Given the description of an element on the screen output the (x, y) to click on. 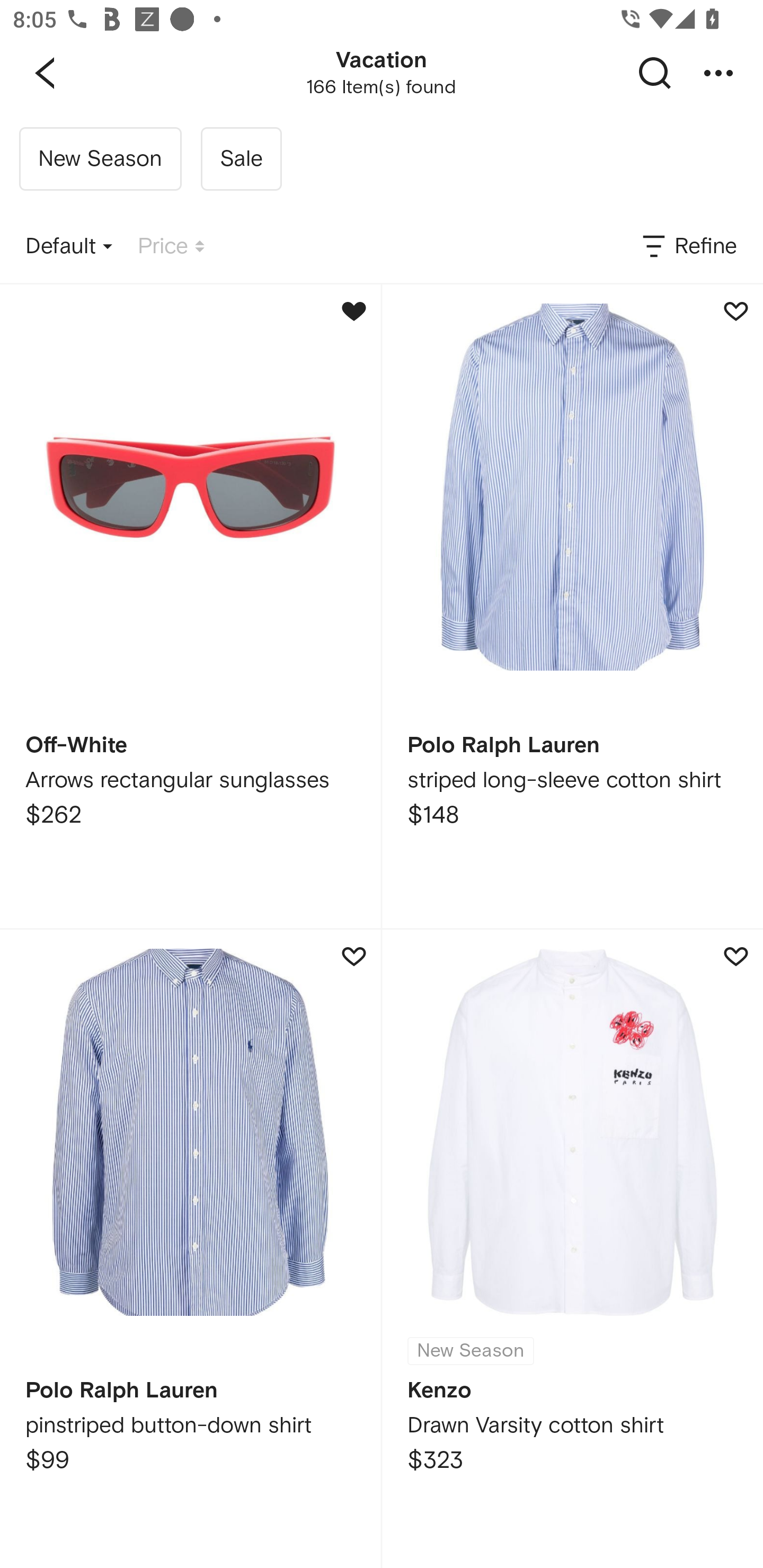
New Season (100, 158)
Sale (240, 158)
Default (68, 246)
Price (171, 246)
Refine (688, 246)
Off-White Arrows rectangular sunglasses $262 (190, 605)
Polo Ralph Lauren pinstriped button-down shirt $99 (190, 1248)
New Season Kenzo Drawn Varsity cotton shirt $323 (572, 1248)
